Given the description of an element on the screen output the (x, y) to click on. 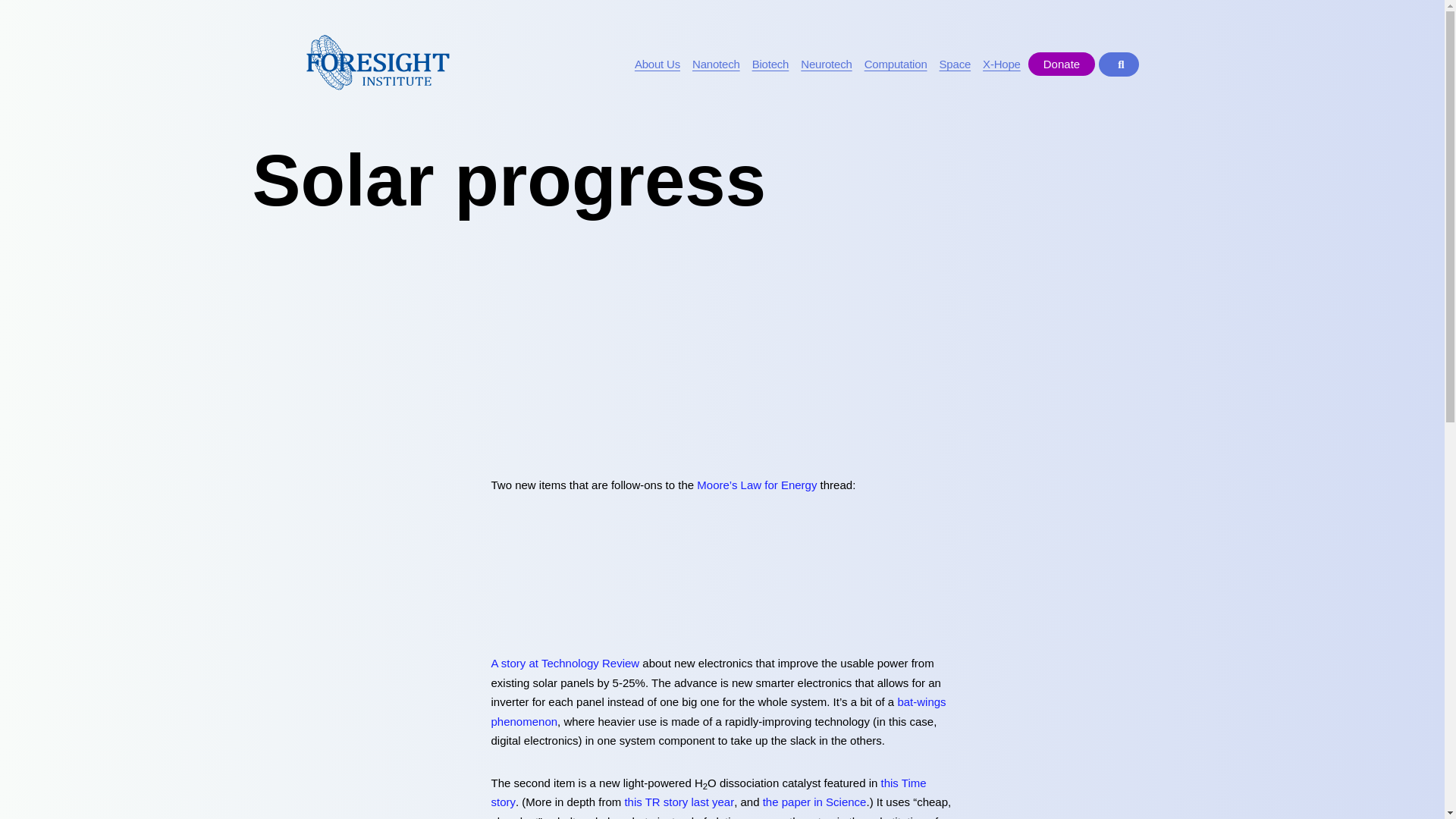
Neurotech (826, 64)
the paper in Science (814, 801)
Space (955, 64)
Computation (895, 64)
A story at Technology Review (566, 662)
bat-wings phenomenon (719, 711)
this TR story last year (678, 801)
X-Hope (1001, 64)
Biotech (770, 64)
this Time story (709, 792)
About Us (657, 64)
Donate (1060, 64)
Nanotech (716, 64)
